Given the description of an element on the screen output the (x, y) to click on. 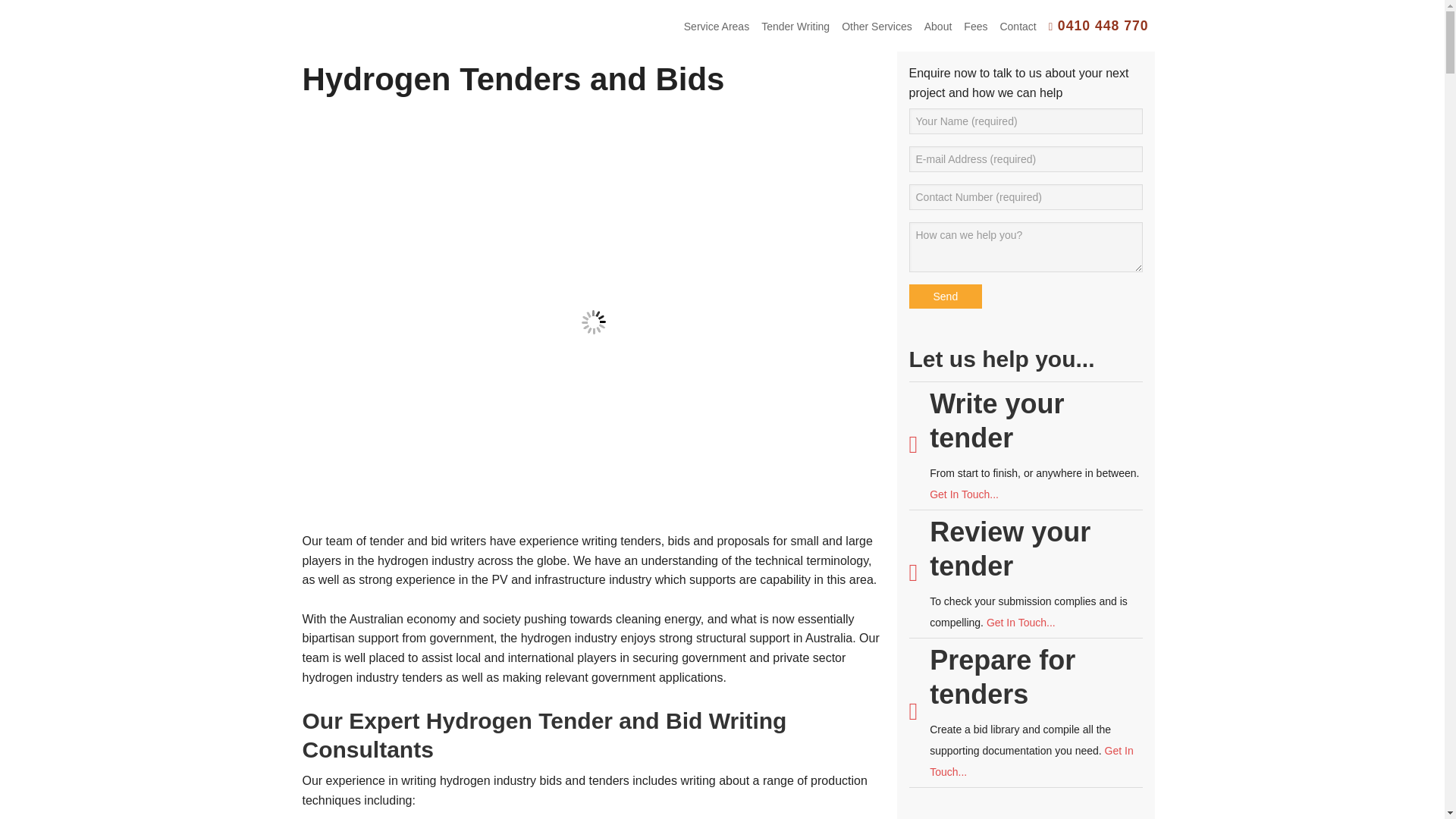
Service Areas (716, 26)
Other Services (876, 26)
Hydrogen Tenders and Bids (512, 79)
Tender Writing (795, 26)
0410 448 770 (1098, 25)
Send (944, 296)
Contact (1017, 26)
The Tender Team (387, 23)
